Given the description of an element on the screen output the (x, y) to click on. 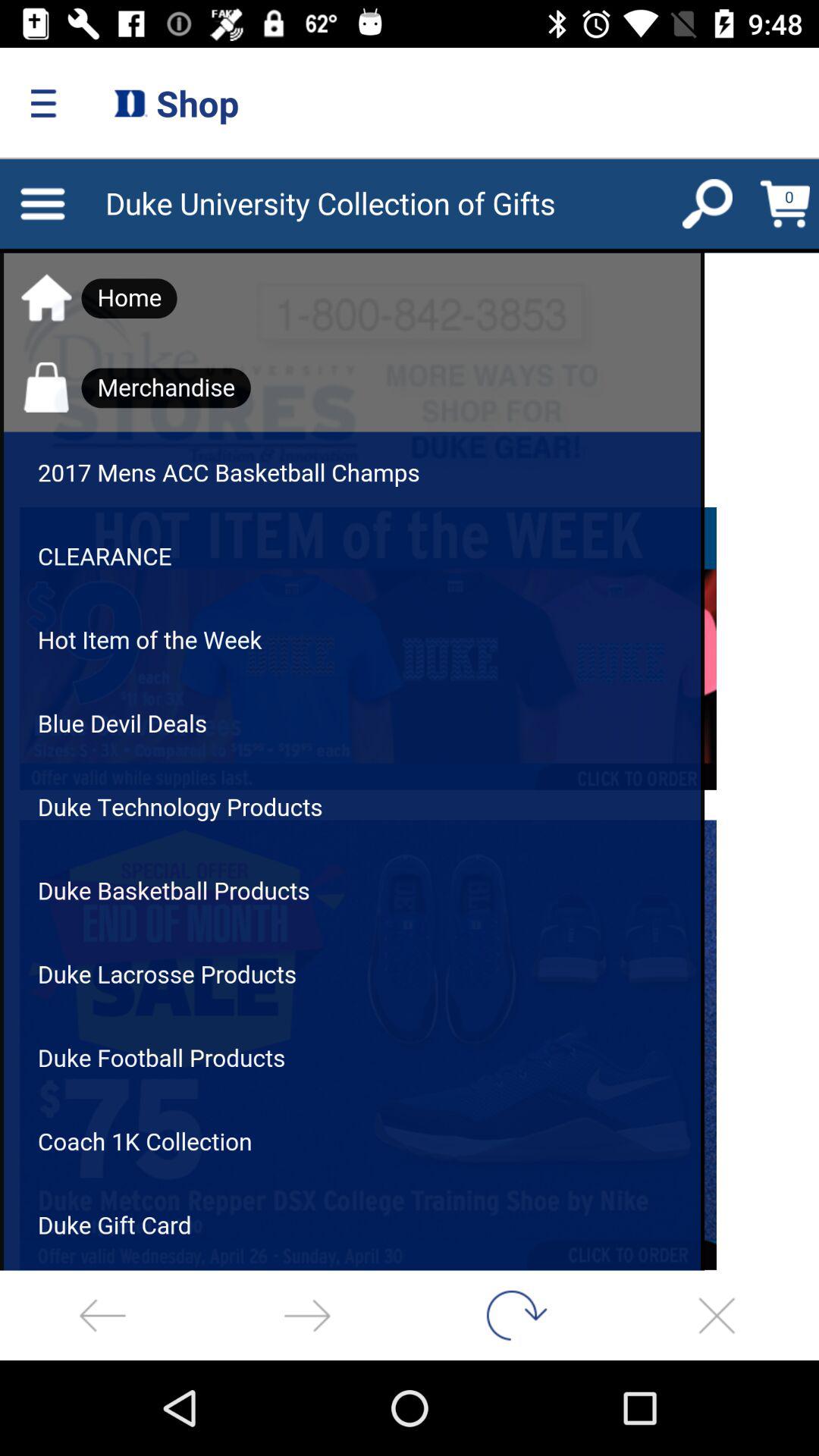
back to previous page (102, 1315)
